Given the description of an element on the screen output the (x, y) to click on. 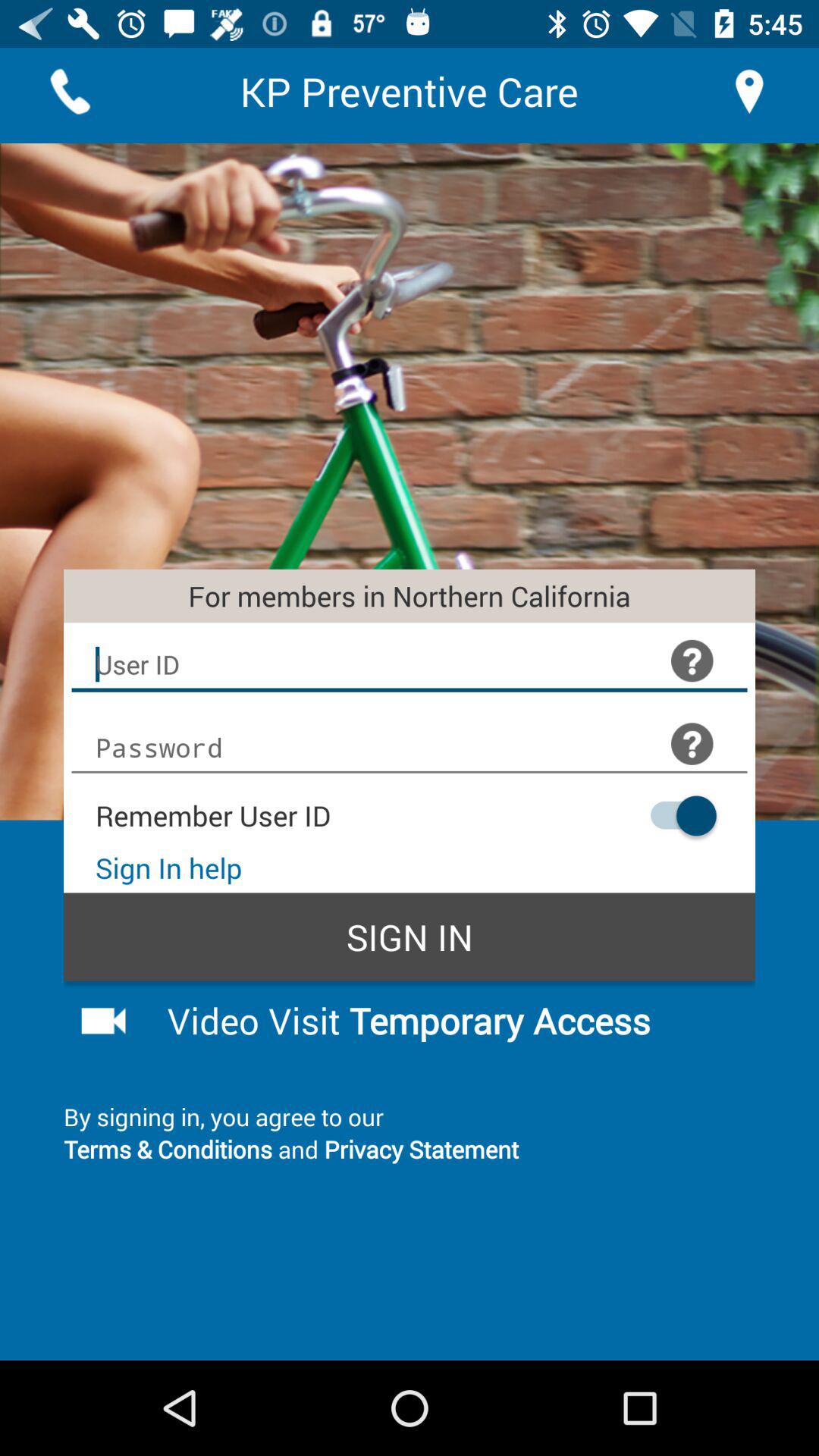
press icon above sign in item (676, 815)
